Given the description of an element on the screen output the (x, y) to click on. 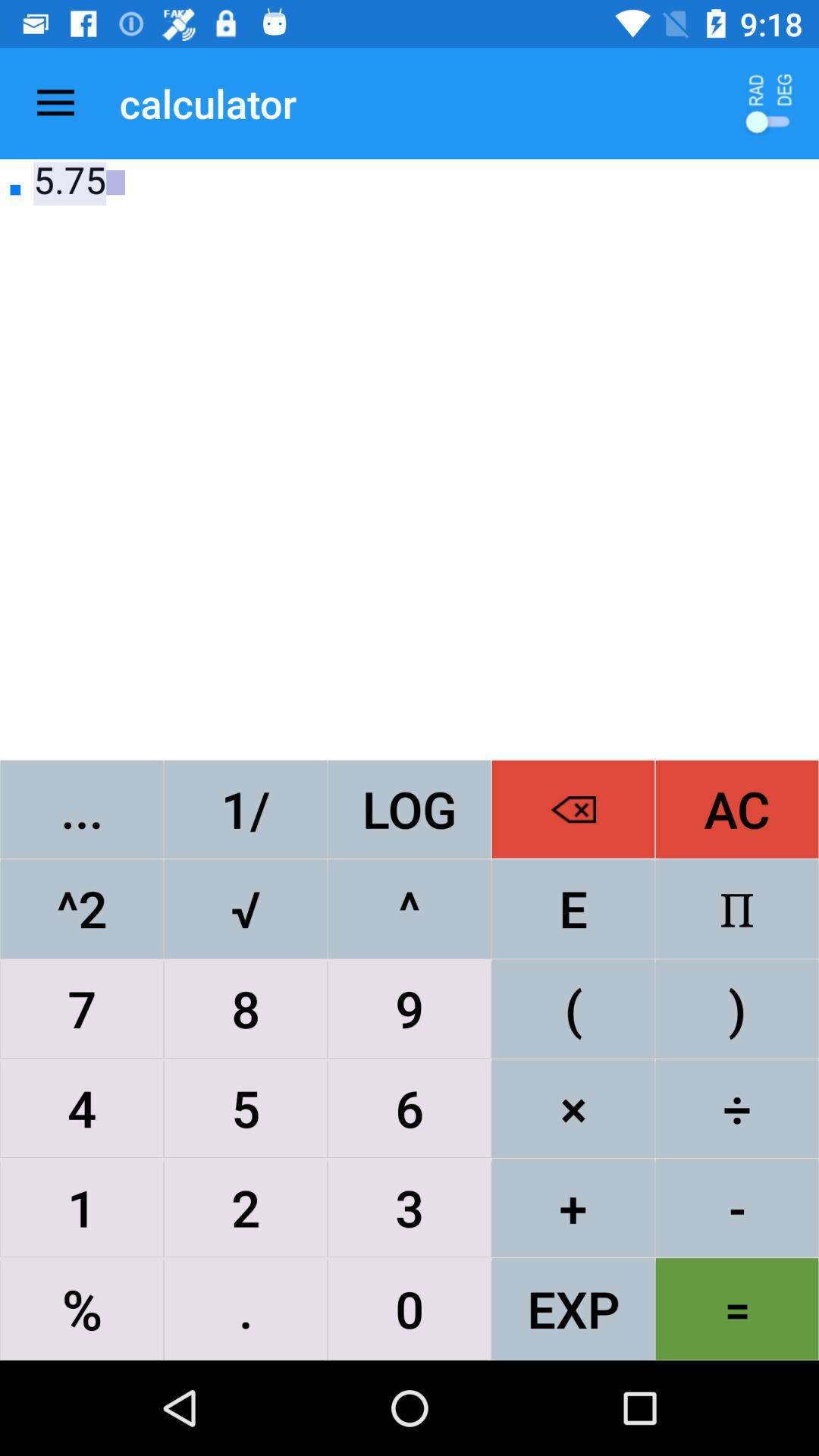
scroll until the 5 item (245, 1108)
